Given the description of an element on the screen output the (x, y) to click on. 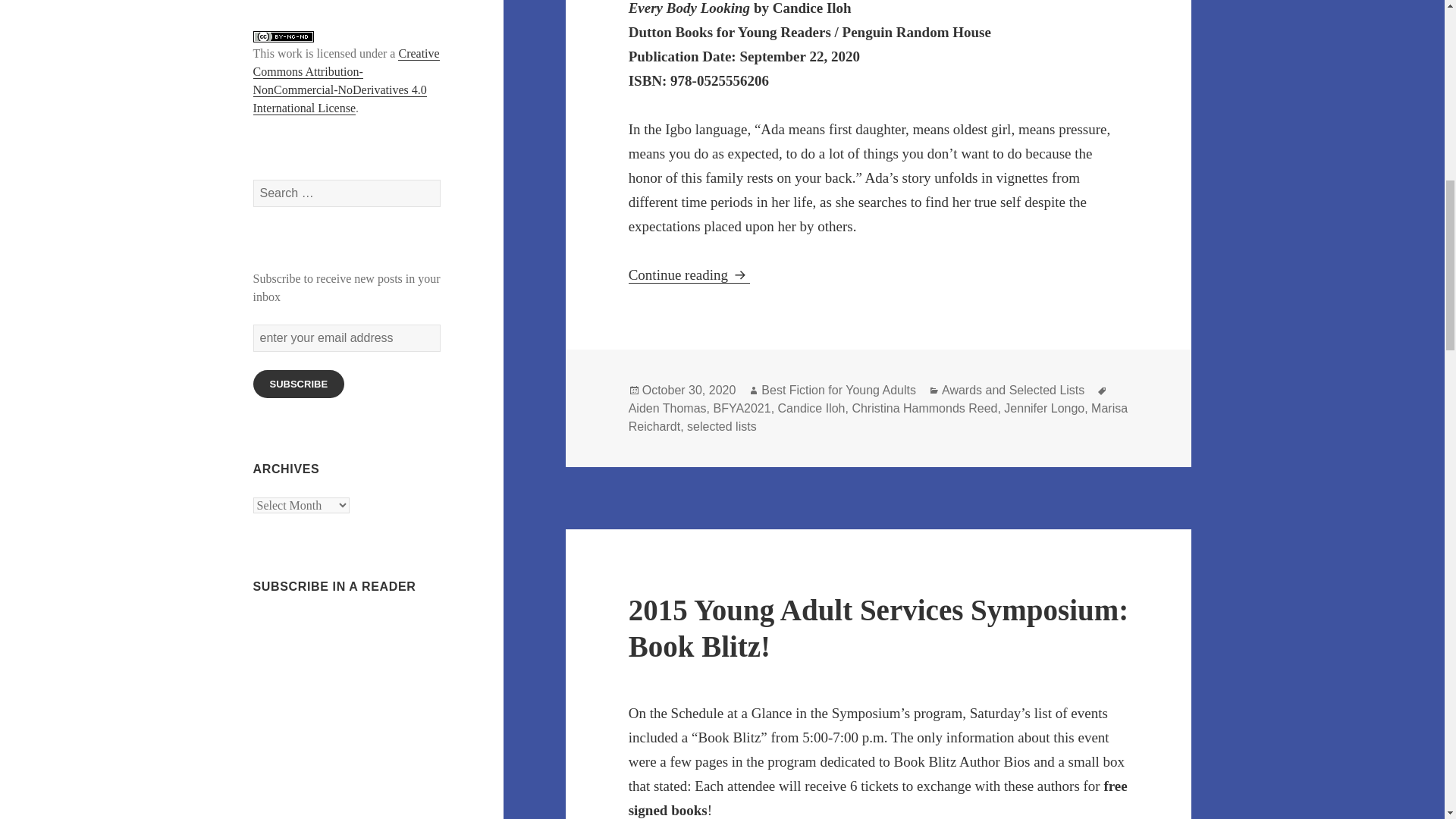
Aiden Thomas (667, 408)
October 30, 2020 (689, 390)
Best Fiction for Young Adults (838, 390)
SUBSCRIBE (299, 384)
Awards and Selected Lists (1013, 390)
